Given the description of an element on the screen output the (x, y) to click on. 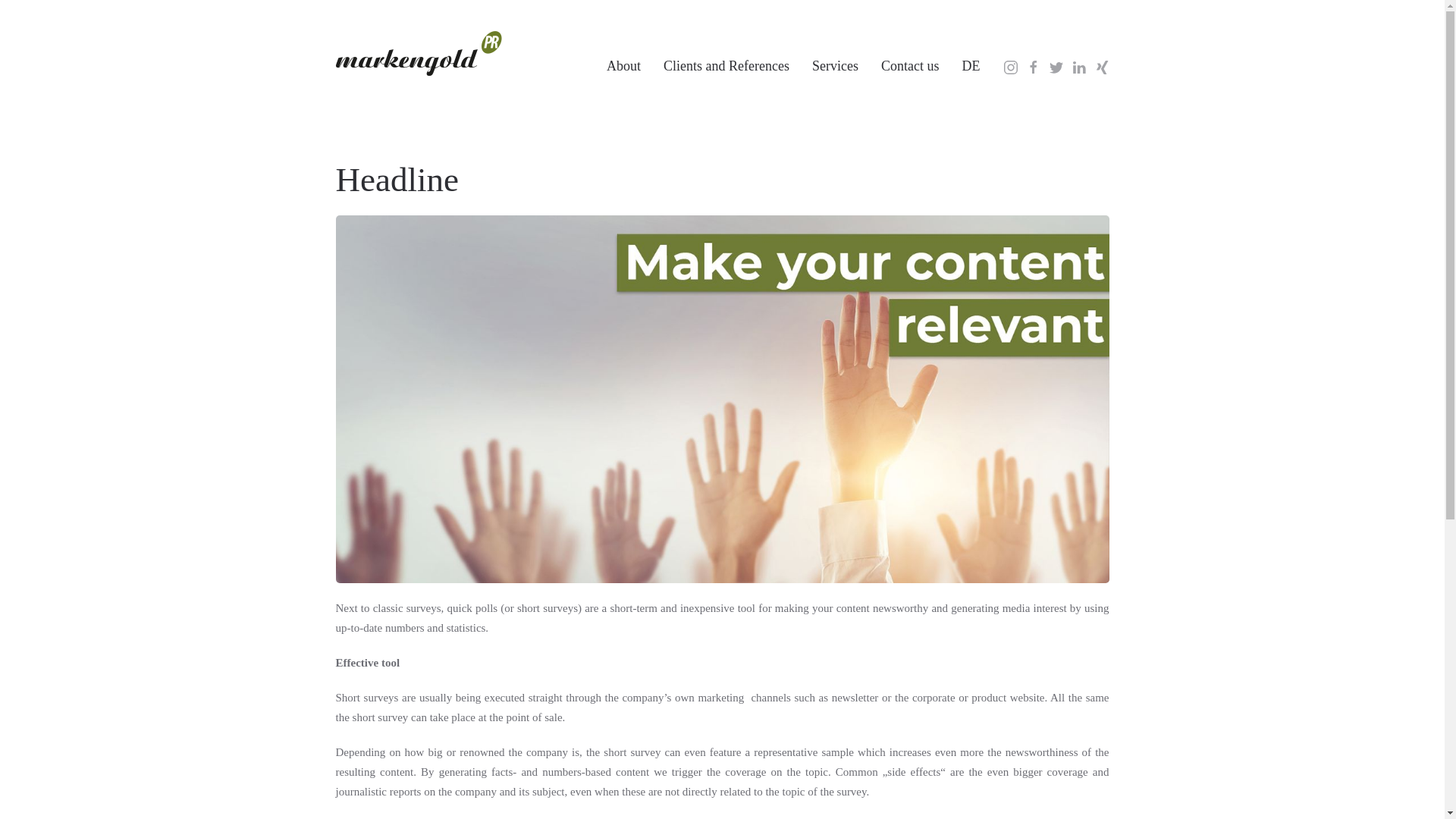
Contact us (909, 38)
Services (834, 38)
Clients and References (726, 38)
